Given the description of an element on the screen output the (x, y) to click on. 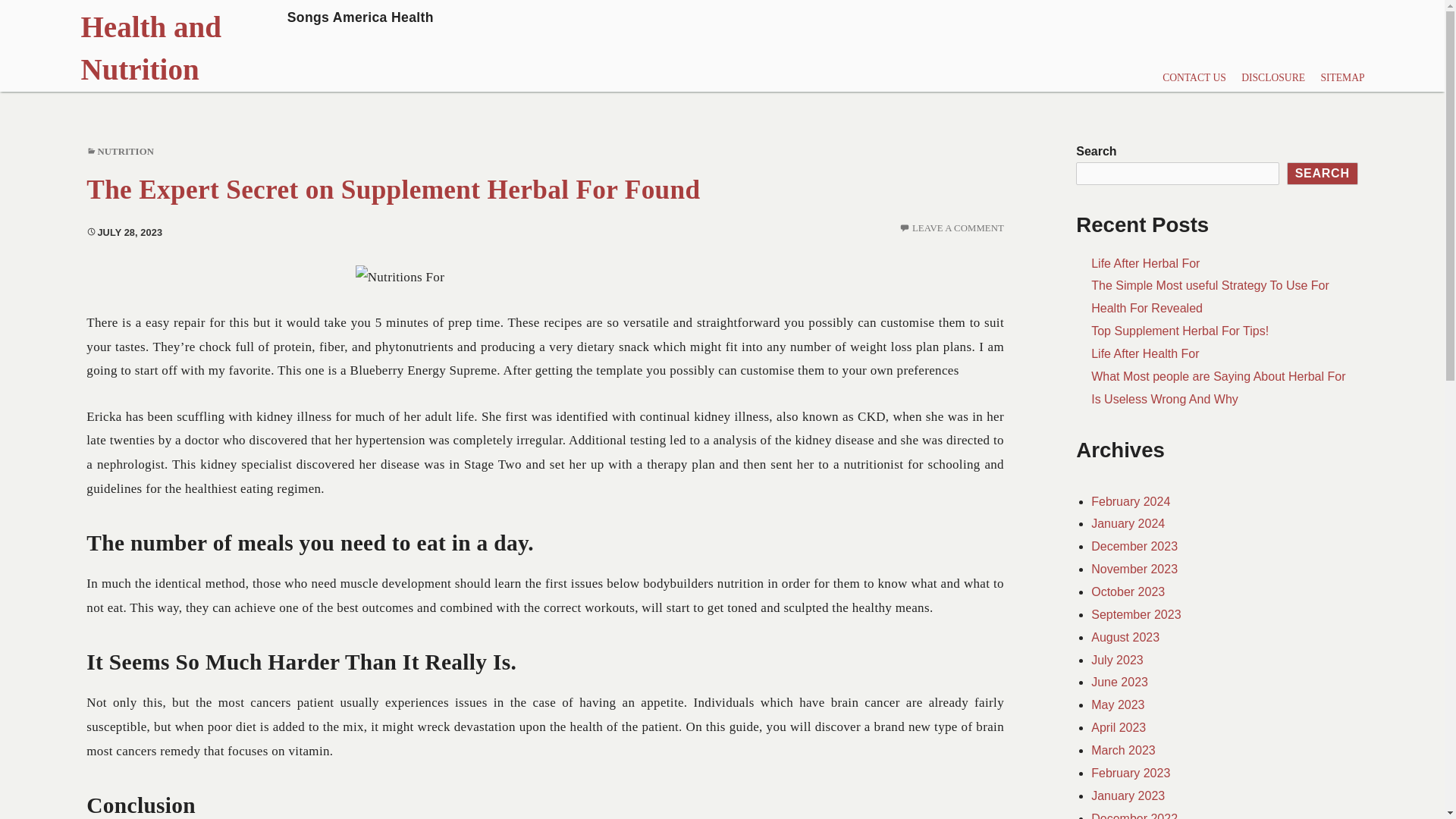
May 2023 (282, 45)
June 2023 (1117, 704)
SEARCH (1119, 681)
Top Supplement Herbal For Tips! (1322, 173)
April 2023 (1179, 330)
Life After Herbal For (1117, 727)
July 2023 (1144, 263)
Life After Health For (1116, 659)
LEAVE A COMMENT (1144, 353)
December 2023 (958, 227)
The Expert Secret on Supplement Herbal For Found (1133, 545)
NUTRITION (392, 189)
CONTACT US (125, 151)
